Given the description of an element on the screen output the (x, y) to click on. 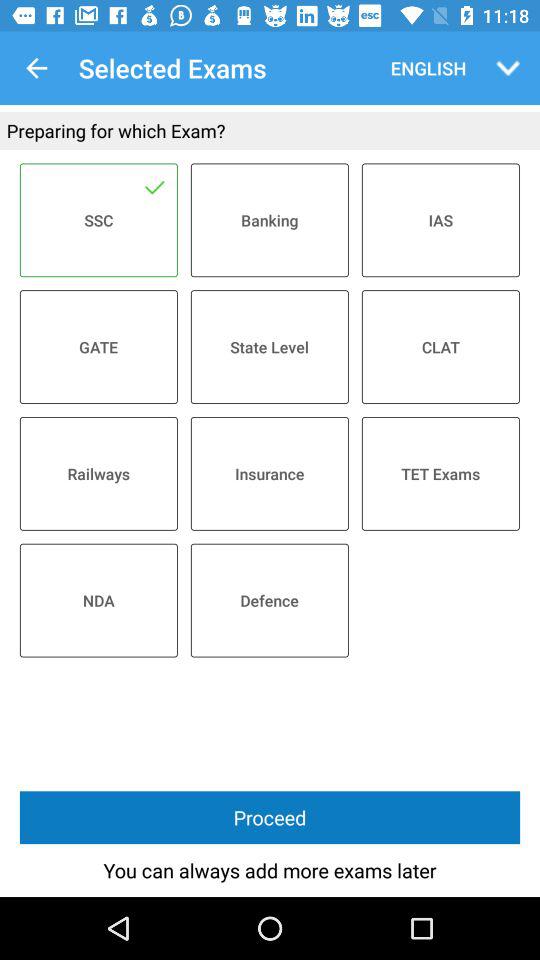
select icon above preparing for which (36, 68)
